Given the description of an element on the screen output the (x, y) to click on. 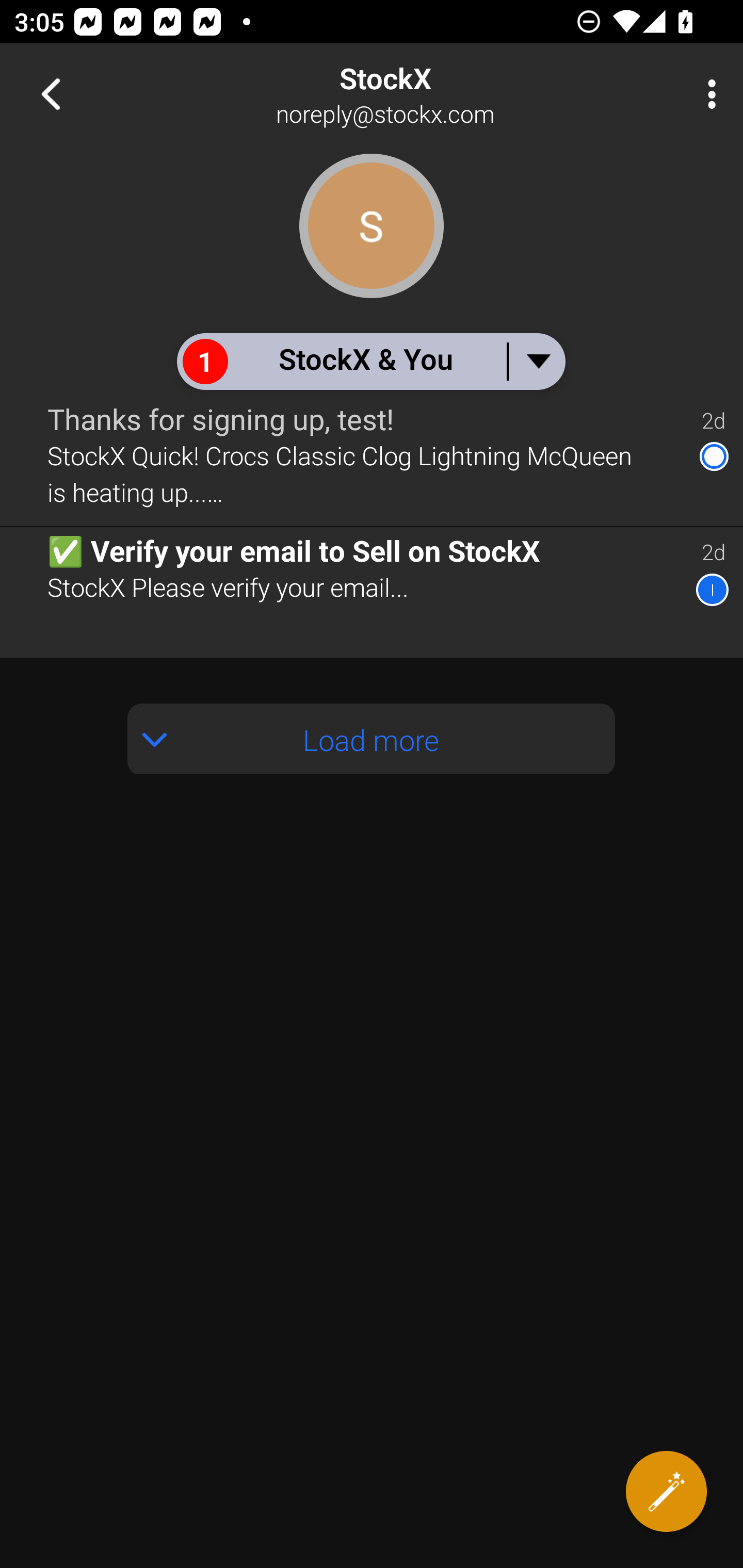
Navigate up (50, 93)
StockX noreply@stockx.com (436, 93)
More Options (706, 93)
1 StockX & You (370, 361)
Load more (371, 739)
